Given the description of an element on the screen output the (x, y) to click on. 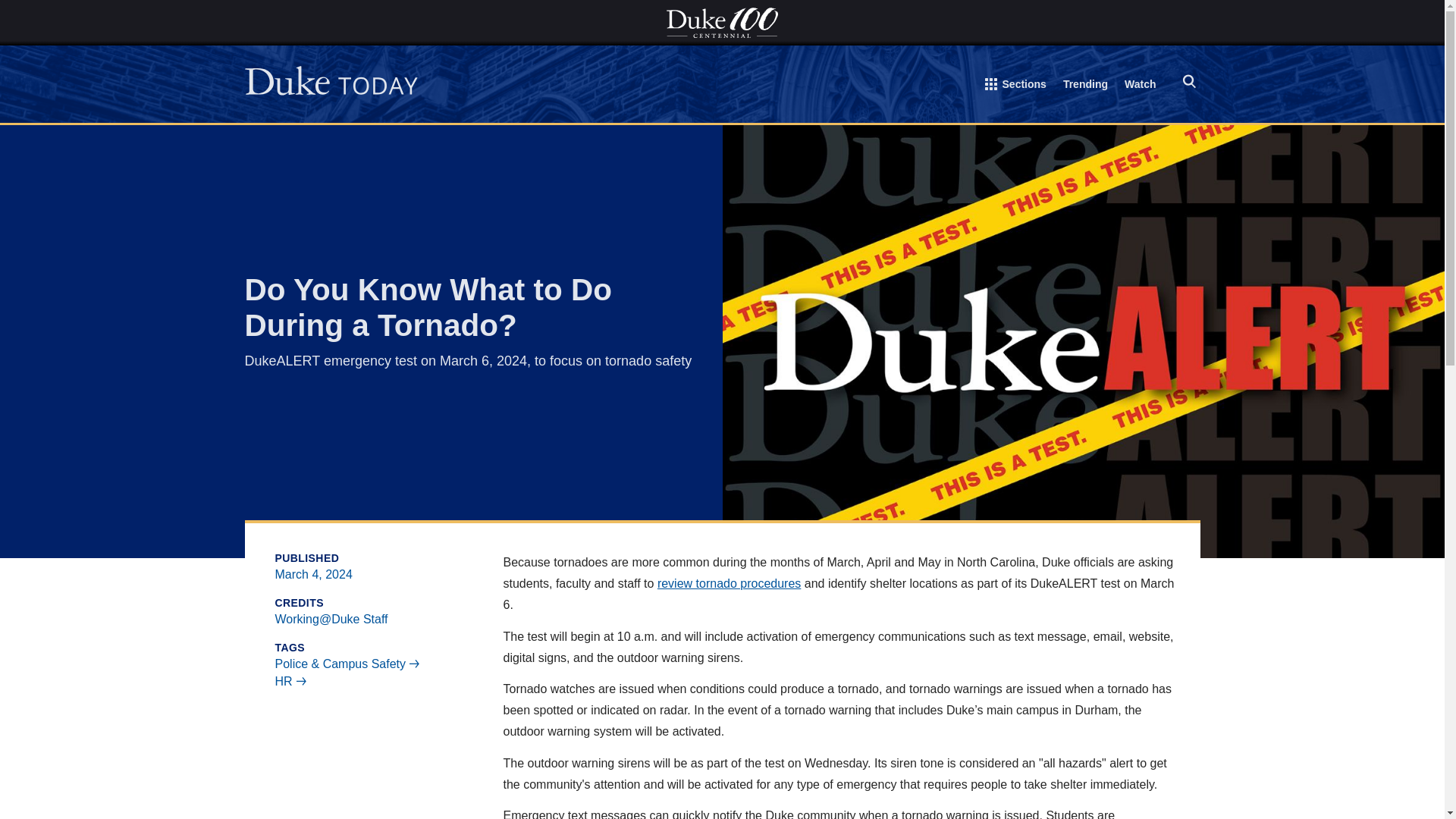
Trending (1085, 86)
Sections (1015, 87)
Watch (1140, 86)
